Given the description of an element on the screen output the (x, y) to click on. 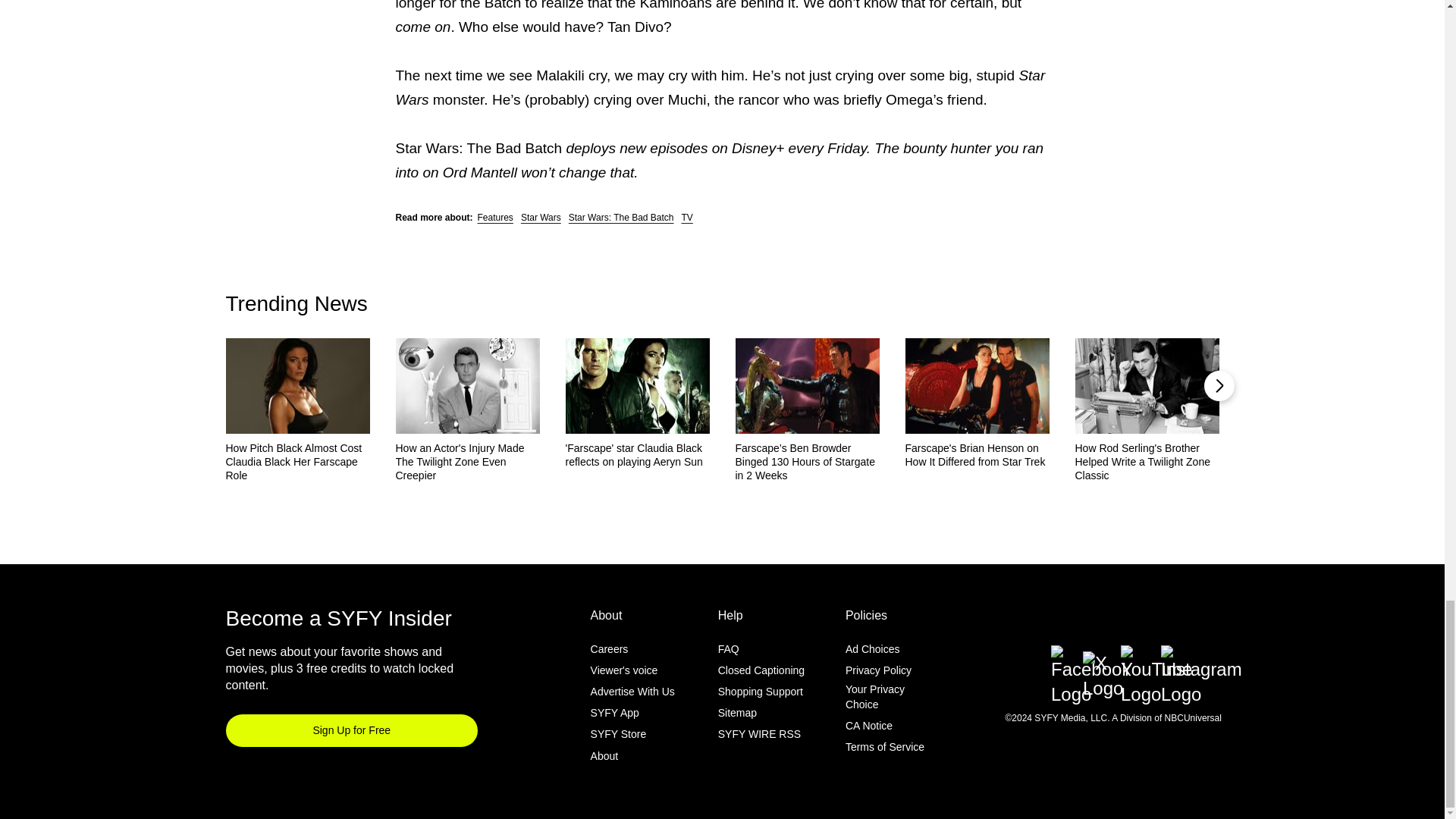
Star Wars (540, 217)
How Pitch Black Almost Cost Claudia Black Her Farscape Role (297, 461)
Advertise With Us (633, 692)
Star Wars: The Bad Batch (621, 217)
TV (687, 217)
'Farscape' star Claudia Black reflects on playing Aeryn Sun (638, 454)
Features (495, 217)
How an Actor's Injury Made The Twilight Zone Even Creepier (468, 461)
